Given the description of an element on the screen output the (x, y) to click on. 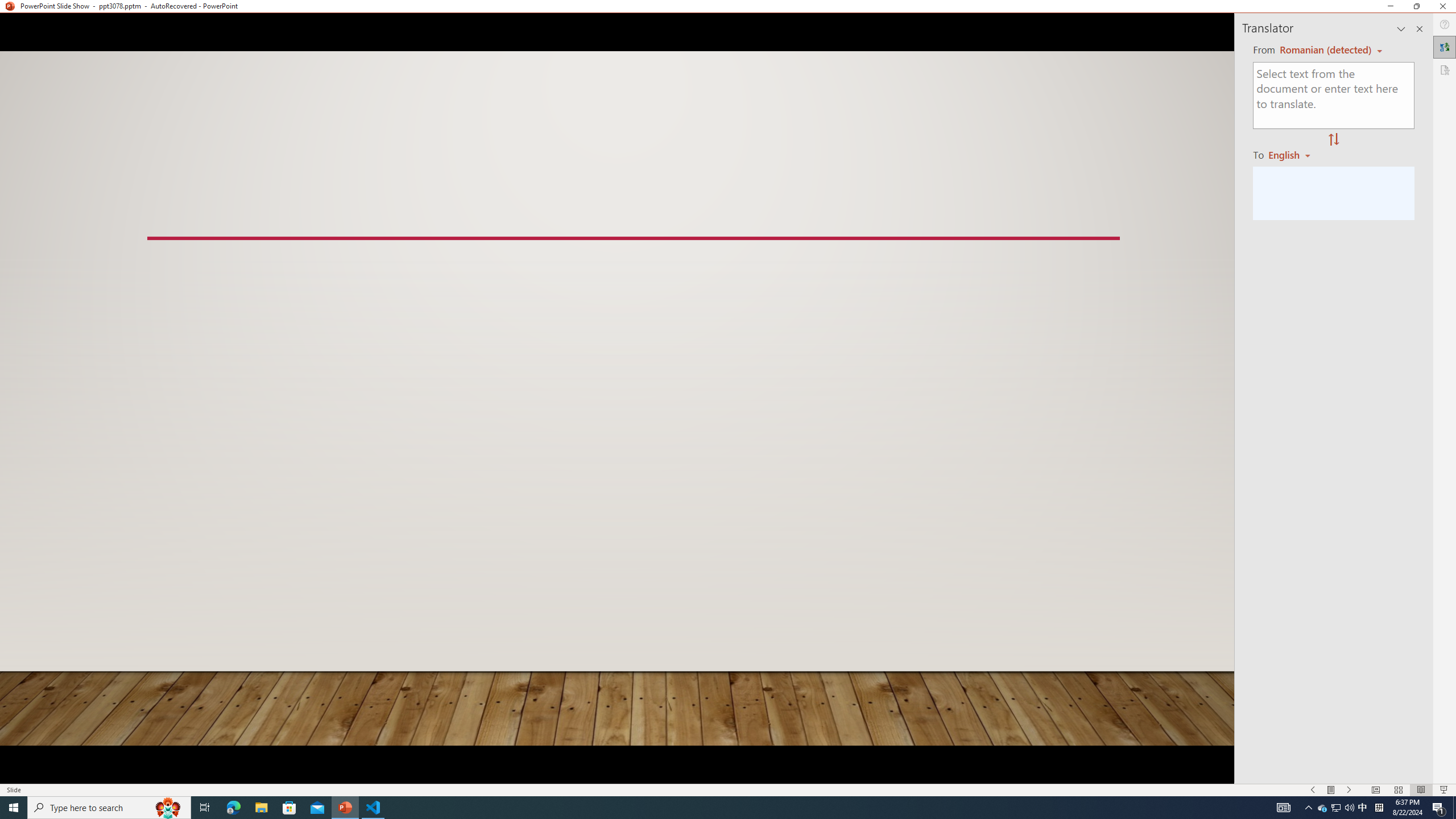
Romanian (1293, 154)
Romanian (detected) (1323, 50)
Swap "from" and "to" languages. (1333, 140)
Slide Show Previous On (1313, 790)
